Given the description of an element on the screen output the (x, y) to click on. 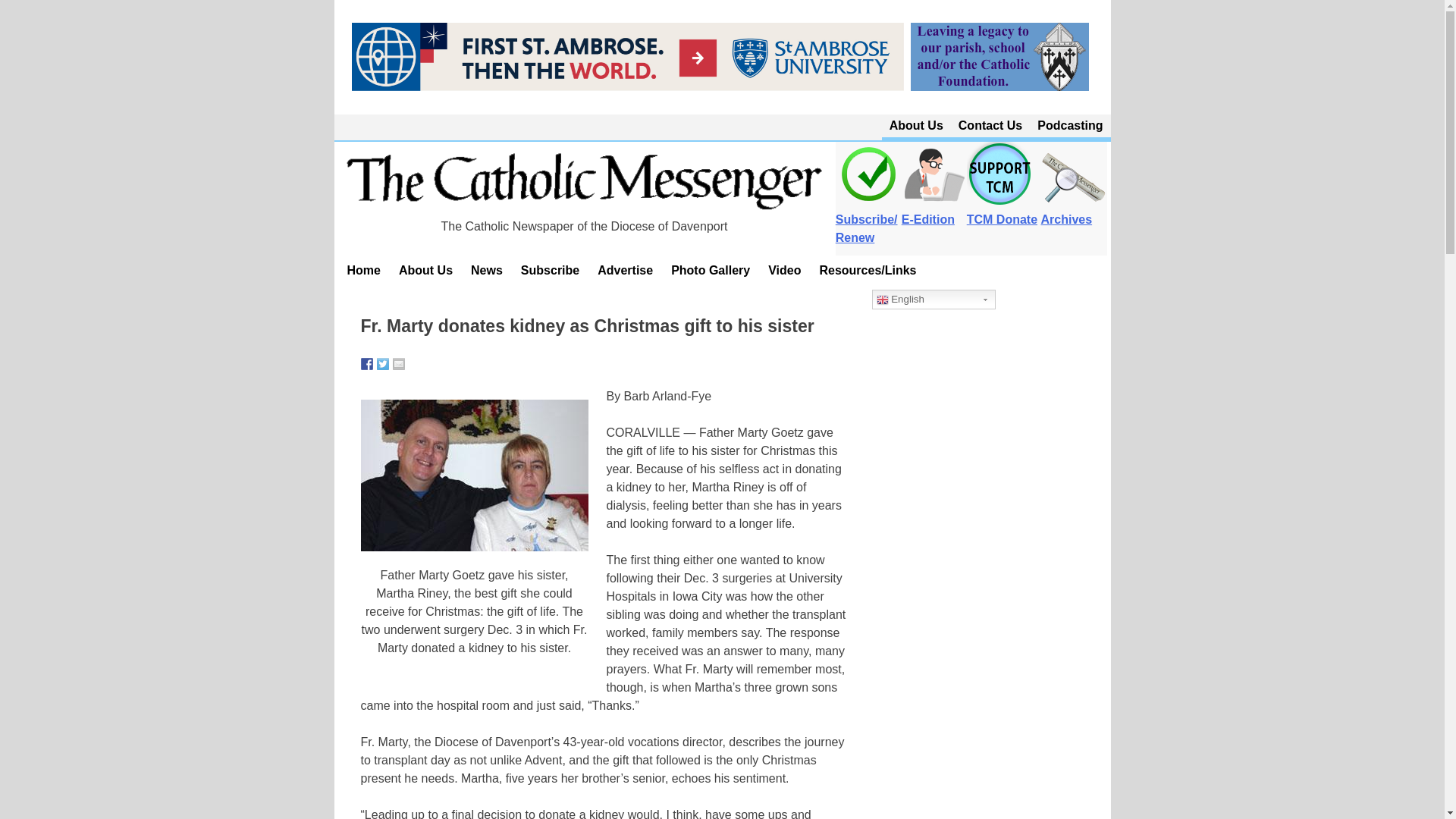
Home (363, 270)
TCM Donate (1001, 210)
Podcasting (1069, 125)
Subscribe (549, 270)
News (487, 270)
Share by email (398, 363)
About Us (425, 270)
Archives (1073, 210)
About Us (916, 125)
Share on Twitter (381, 363)
